Given the description of an element on the screen output the (x, y) to click on. 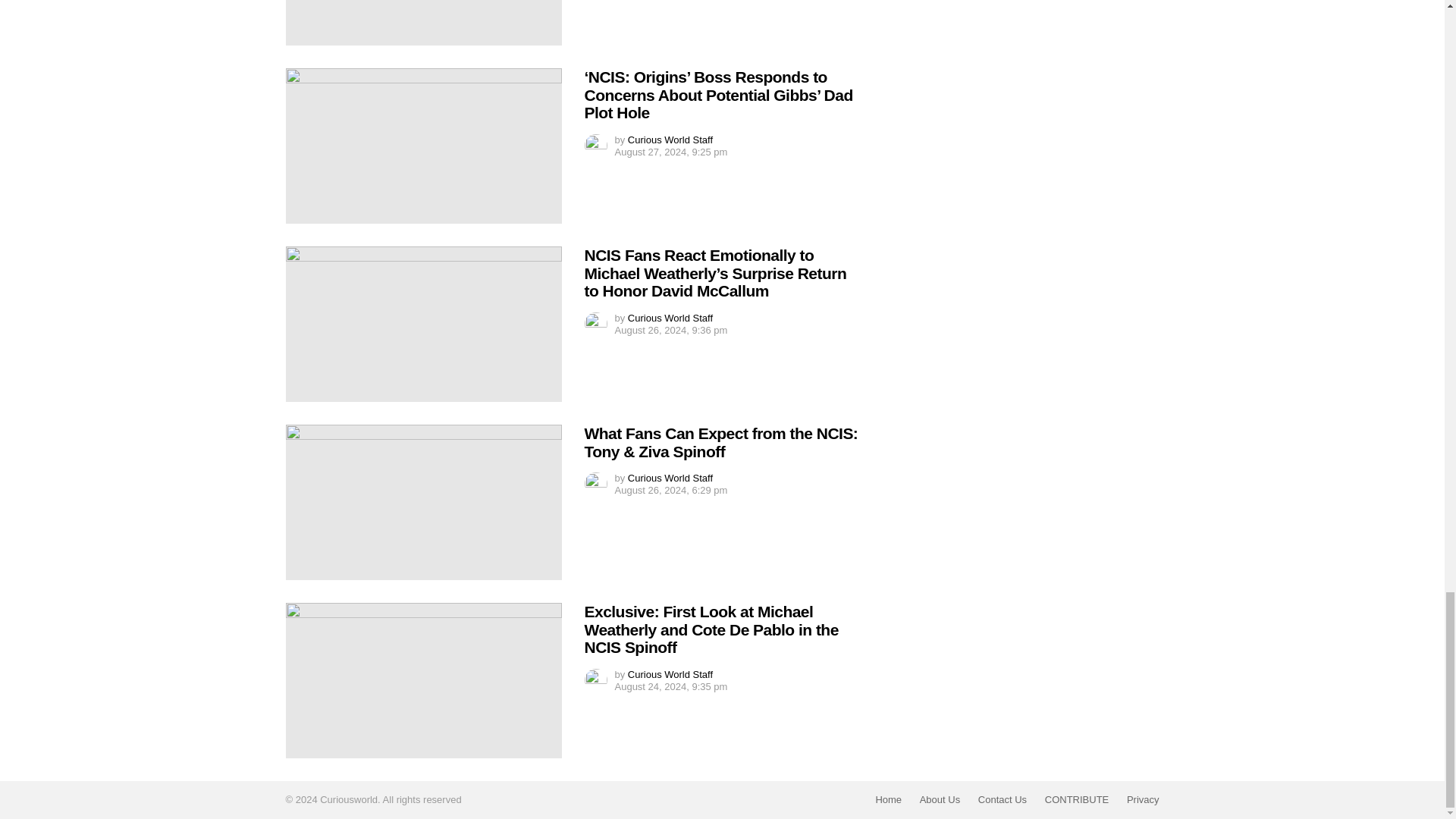
Posts by Curious World Staff (670, 317)
Posts by Curious World Staff (670, 478)
Posts by Curious World Staff (670, 139)
